Given the description of an element on the screen output the (x, y) to click on. 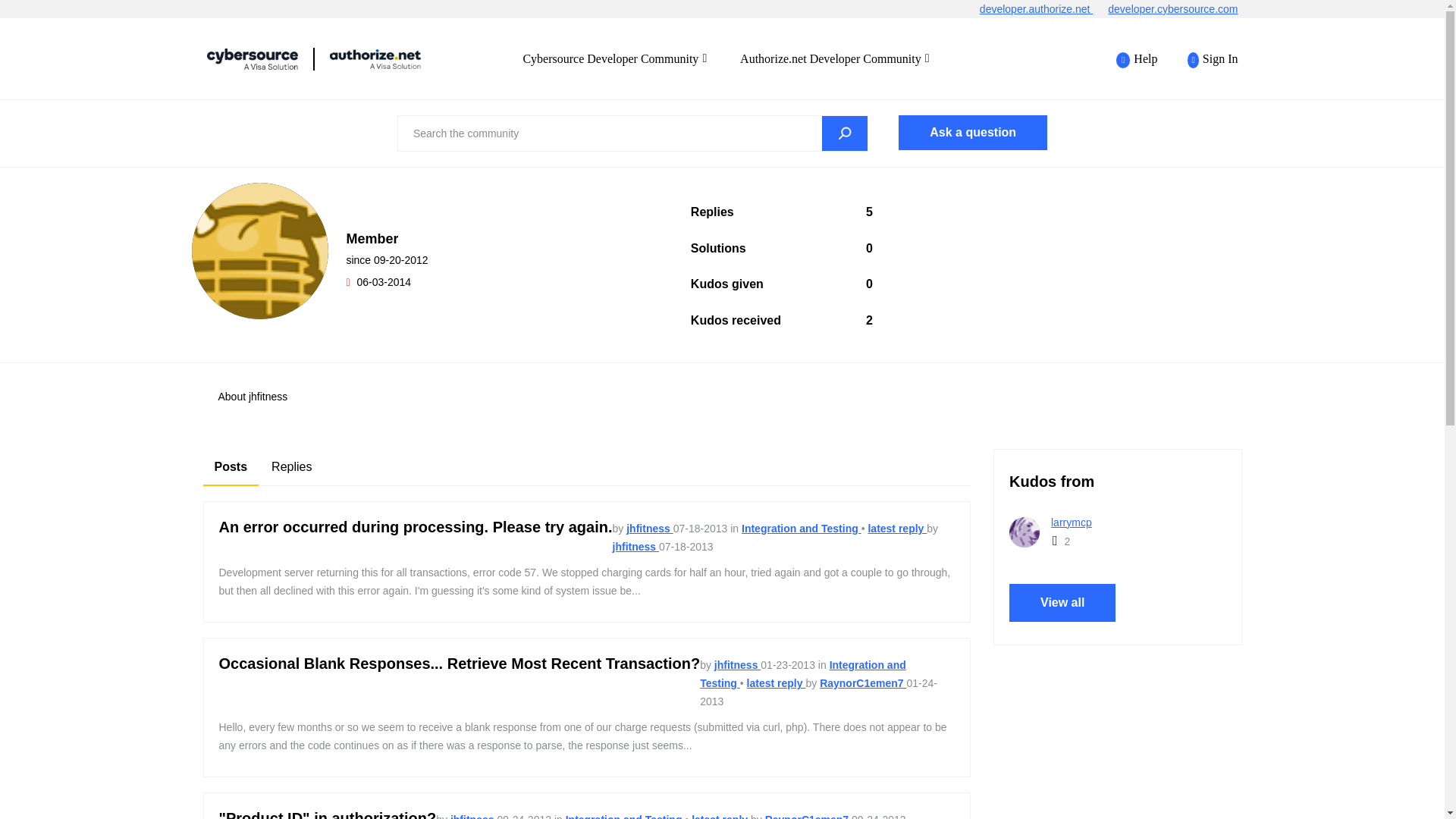
Search (844, 133)
View profile (649, 528)
View profile (737, 664)
developer.cybersource.com (1180, 9)
Integration and Testing (801, 528)
Search (844, 133)
View profile (862, 683)
Posts (231, 467)
View profile (808, 816)
developer.authorize.net (1043, 9)
